Given the description of an element on the screen output the (x, y) to click on. 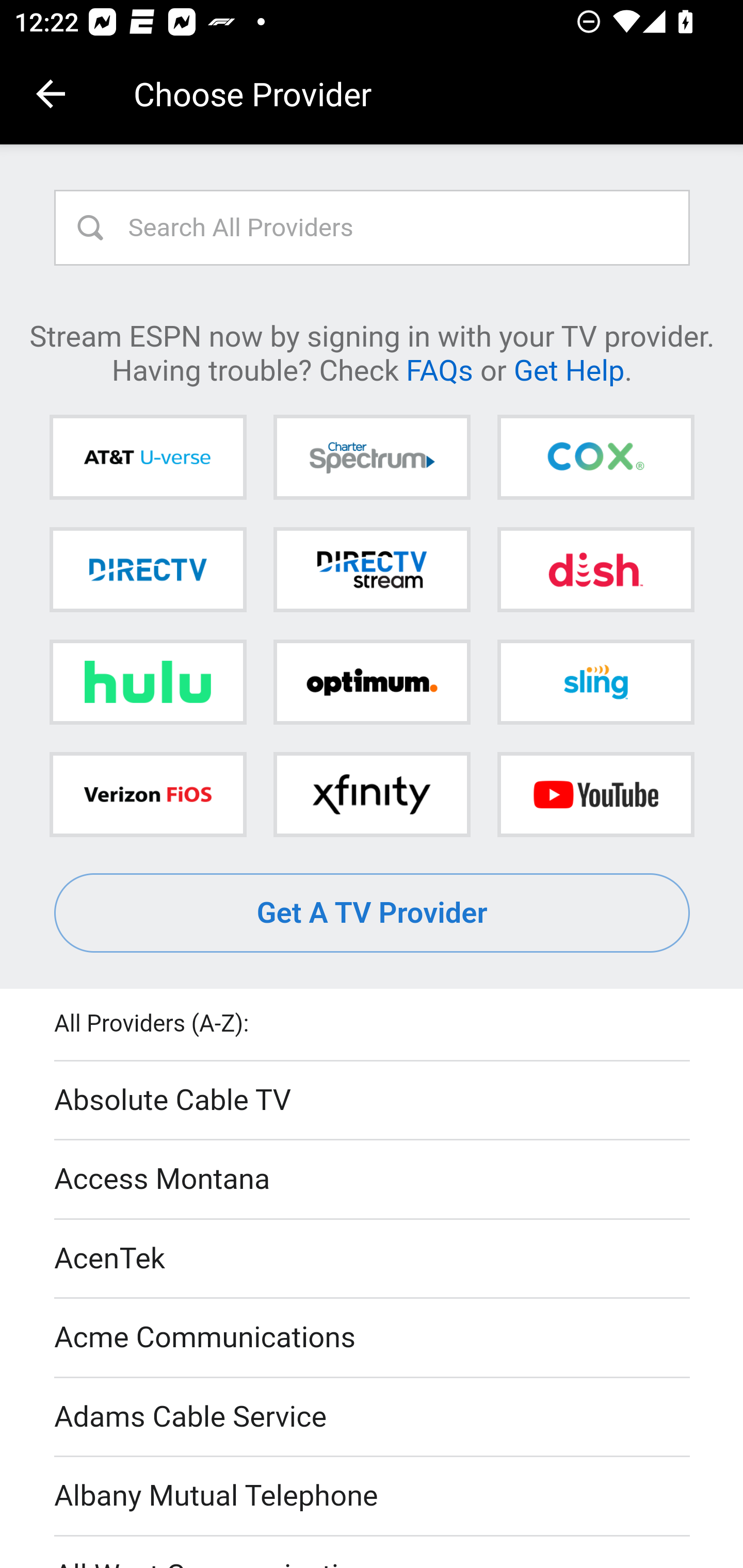
Navigate up (50, 93)
FAQs (438, 369)
Get Help (569, 369)
AT&T U-verse (147, 457)
Charter Spectrum (371, 457)
Cox (595, 457)
DIRECTV (147, 568)
DIRECTV STREAM (371, 568)
DISH (595, 568)
Hulu (147, 681)
Optimum (371, 681)
Sling TV (595, 681)
Verizon FiOS (147, 793)
Xfinity (371, 793)
YouTube TV (595, 793)
Get A TV Provider (372, 912)
Absolute Cable TV (372, 1100)
Access Montana (372, 1178)
AcenTek (372, 1258)
Acme Communications (372, 1338)
Adams Cable Service (372, 1417)
Albany Mutual Telephone (372, 1497)
